Given the description of an element on the screen output the (x, y) to click on. 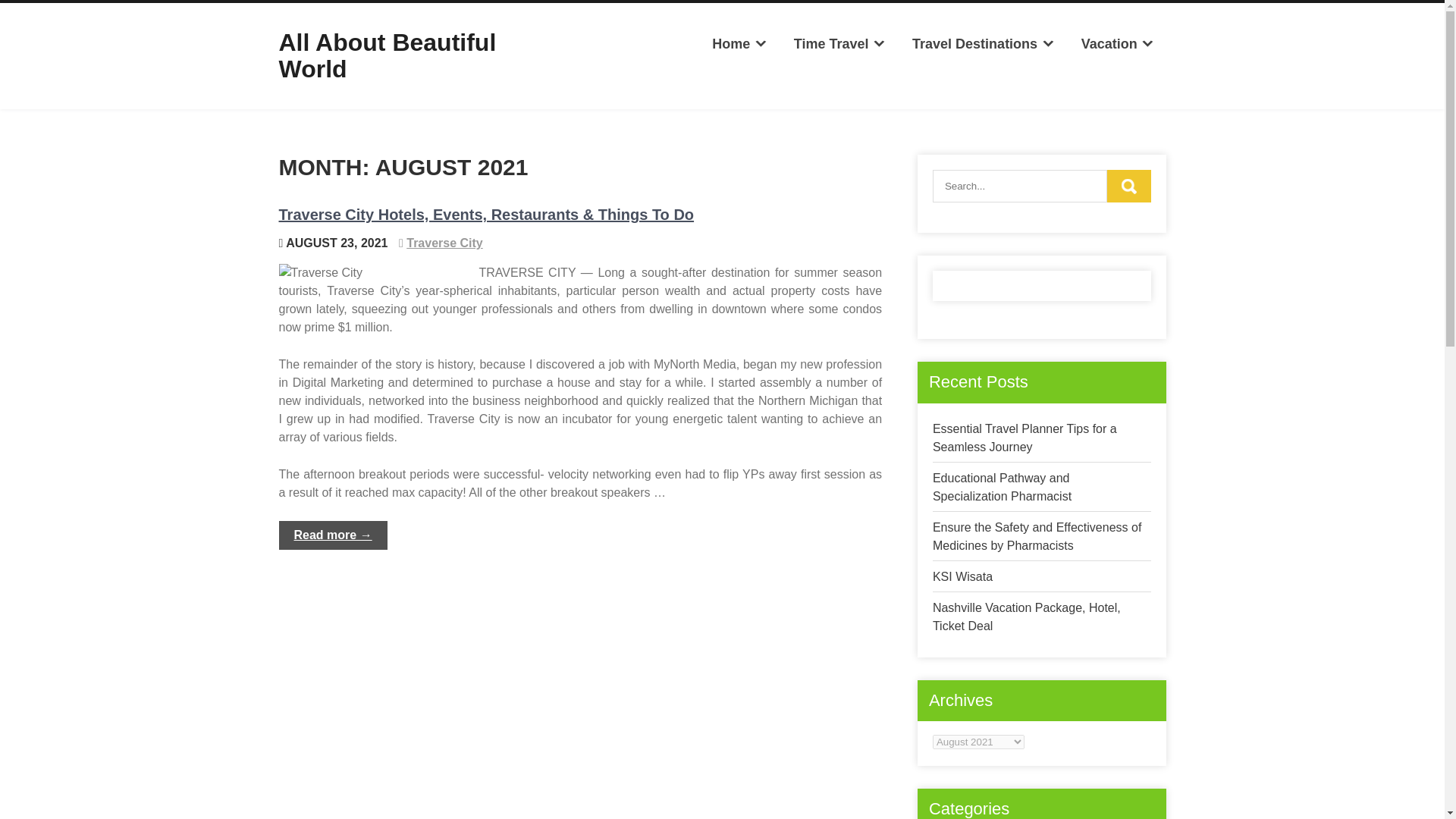
Search (1128, 185)
Essential Travel Planner Tips for a Seamless Journey (1024, 437)
Search (1128, 185)
Time Travel (838, 44)
Educational Pathway and Specialization Pharmacist (1002, 486)
Travel Destinations (983, 44)
Traverse City (444, 242)
All About Beautiful World (387, 55)
Home (739, 44)
